Given the description of an element on the screen output the (x, y) to click on. 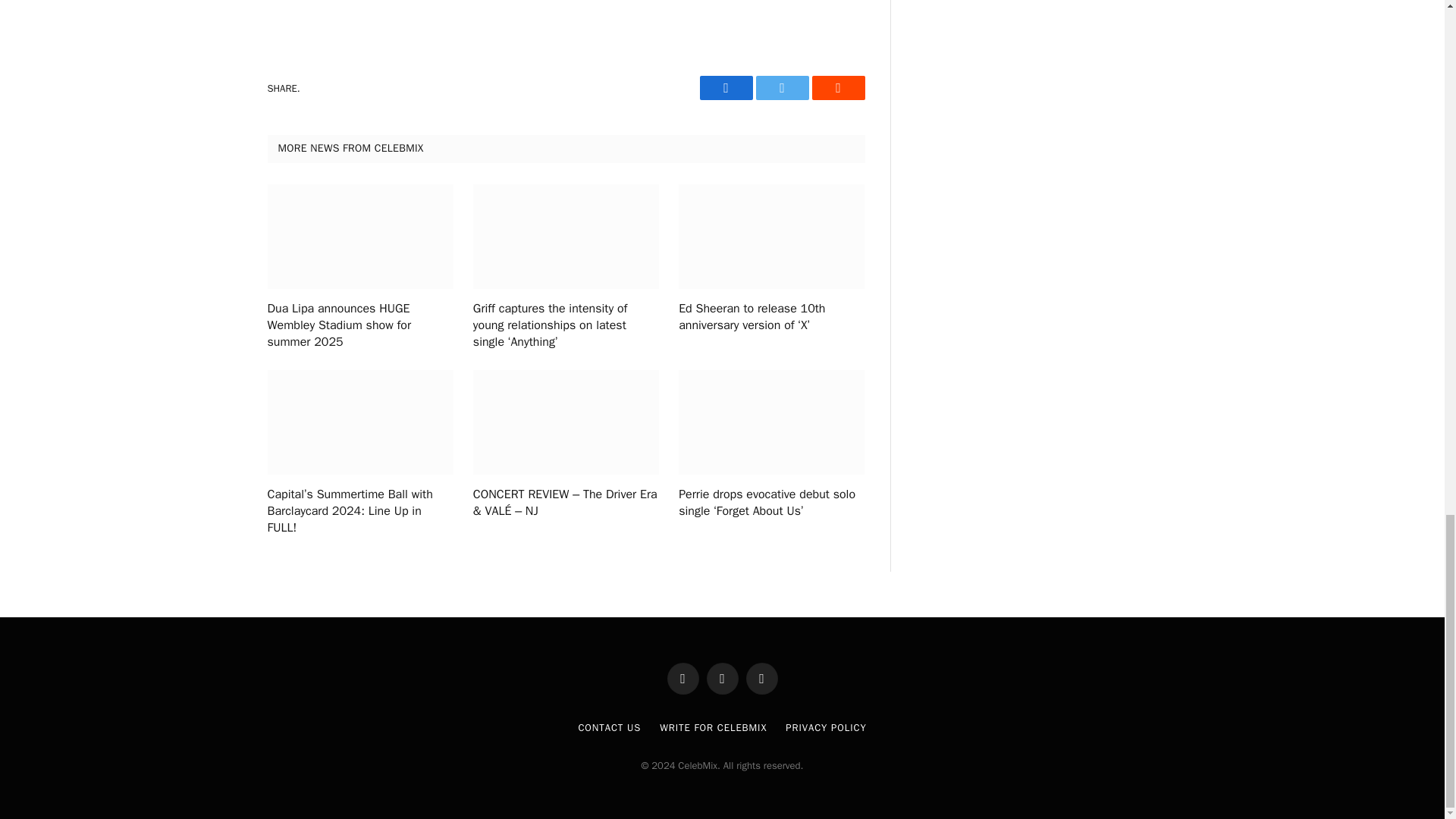
Facebook (725, 87)
Twitter (781, 87)
Reddit (837, 87)
Share on Facebook (725, 87)
Dua Lipa announces HUGE Wembley Stadium show for summer 2025 (359, 325)
